Given the description of an element on the screen output the (x, y) to click on. 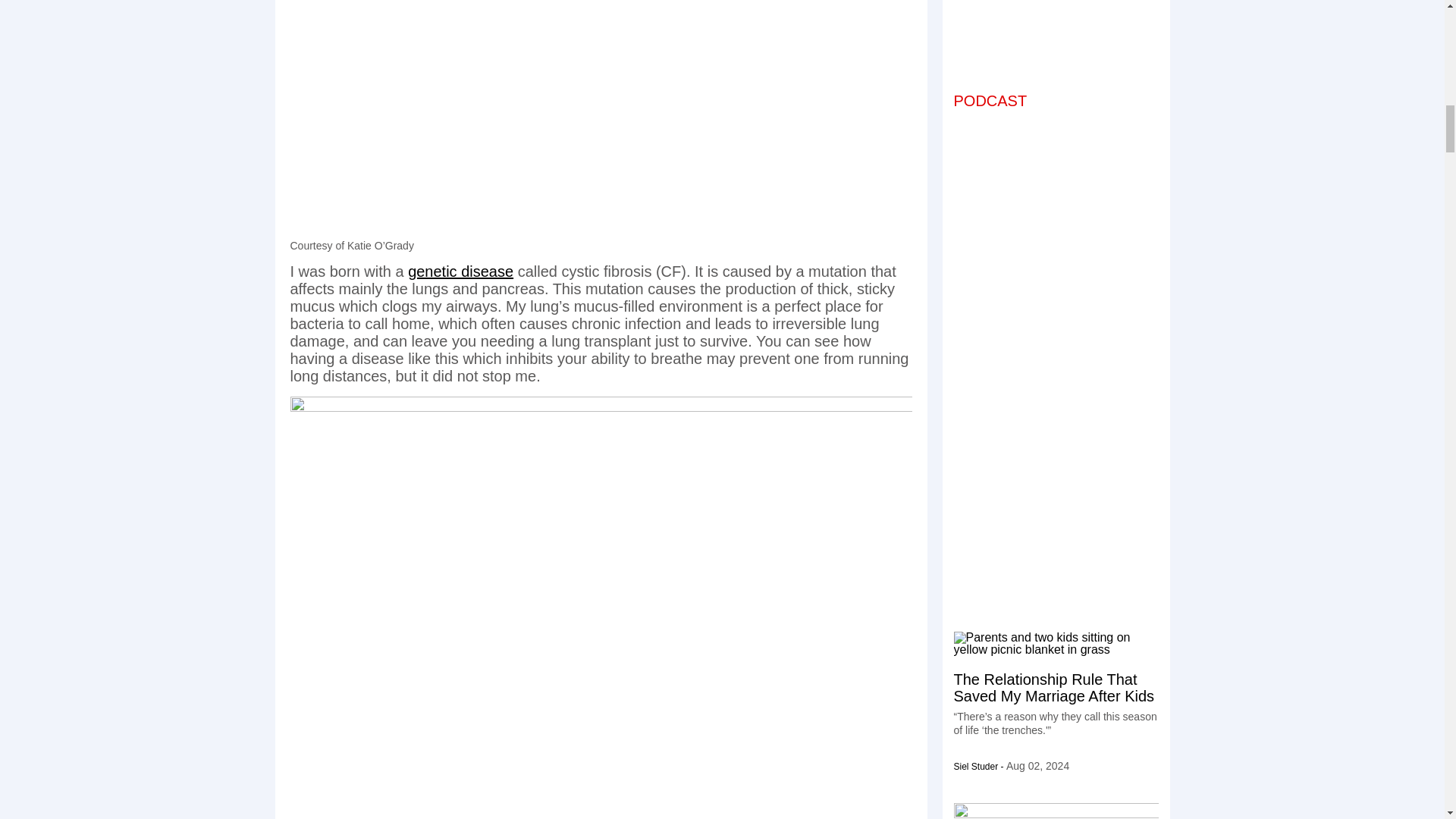
August 2, 2024 (1037, 766)
